Given the description of an element on the screen output the (x, y) to click on. 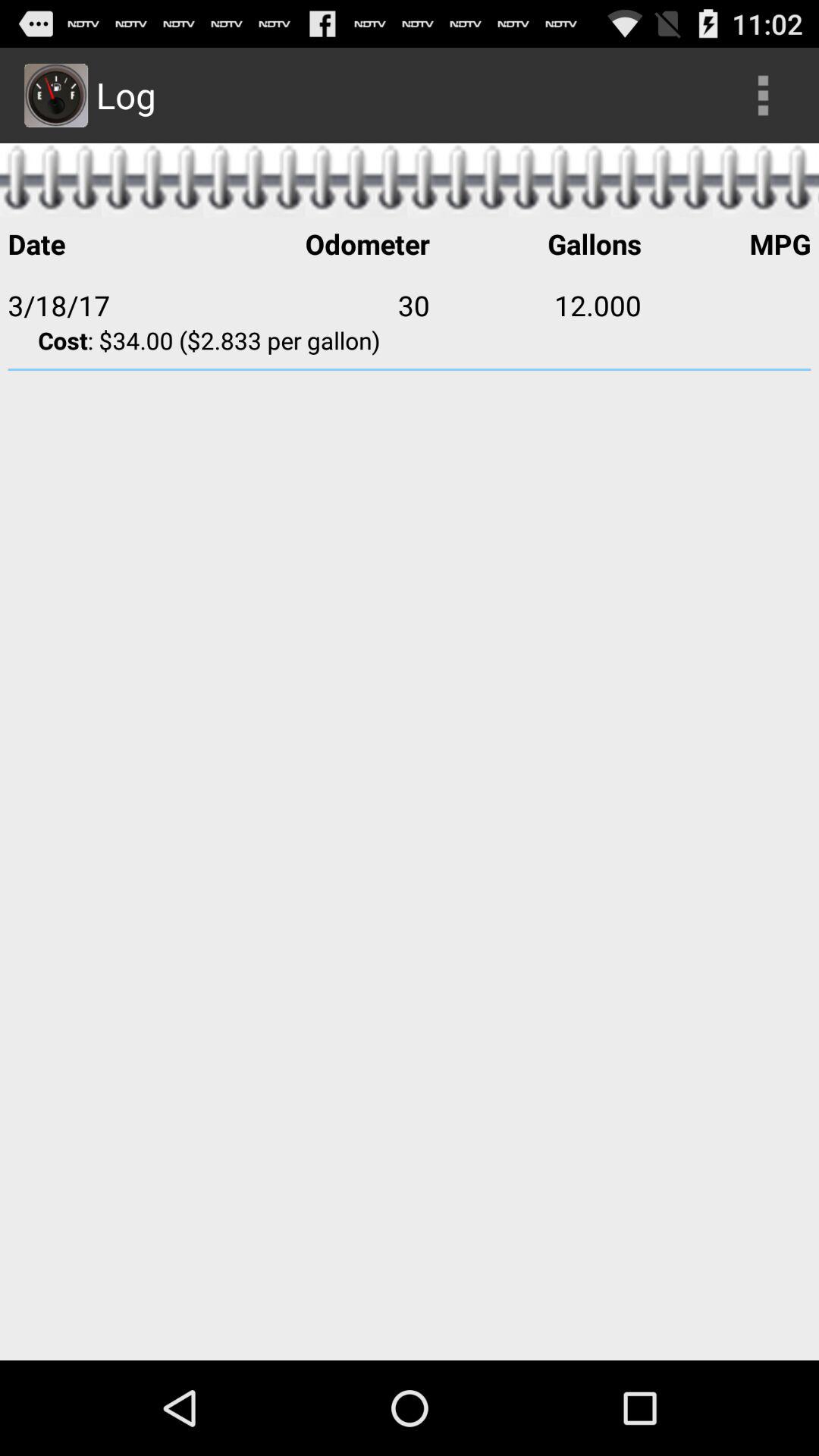
click the right icon in the first line (763, 95)
